Given the description of an element on the screen output the (x, y) to click on. 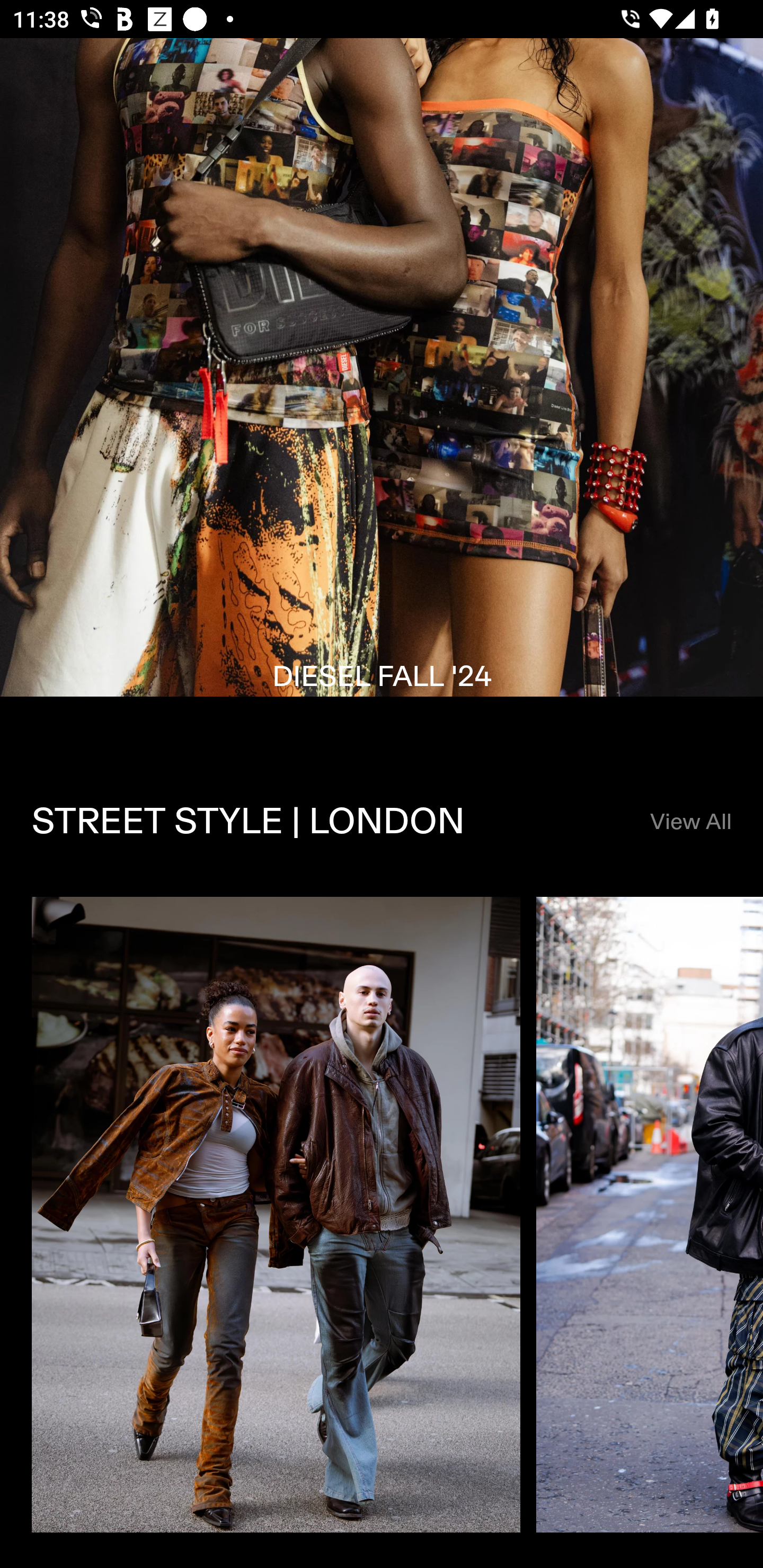
FIRST LOOKS DIESEL FALL '24 (381, 392)
View All (690, 822)
